Given the description of an element on the screen output the (x, y) to click on. 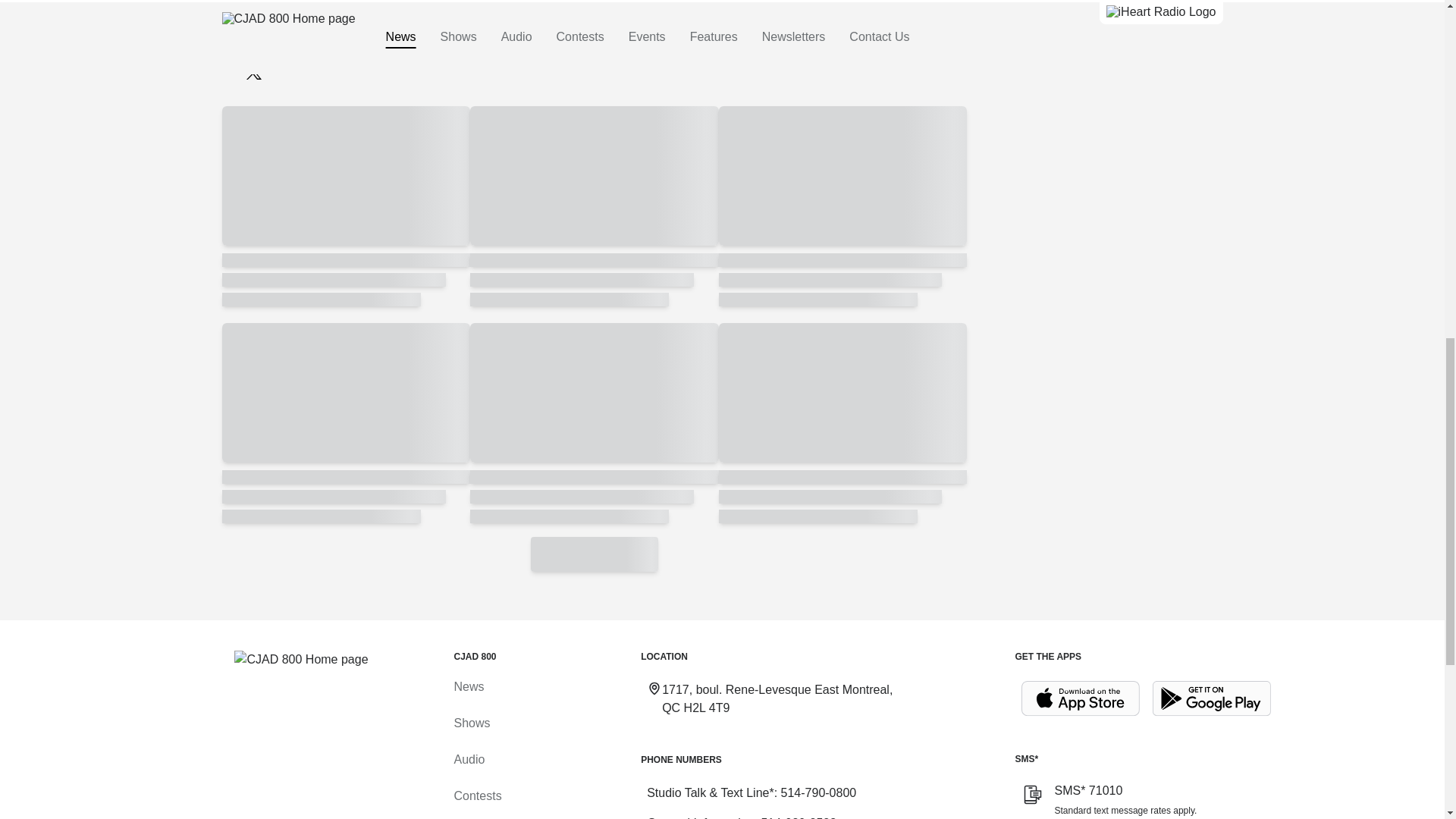
Contests (476, 795)
514-790-0800 (818, 792)
Audio (468, 758)
Complete election results are availablen here: (459, 46)
Download on the App Store (1080, 698)
Get it on Google Play (1212, 698)
514-989-2523 (797, 817)
Shows (470, 722)
News (467, 686)
